Given the description of an element on the screen output the (x, y) to click on. 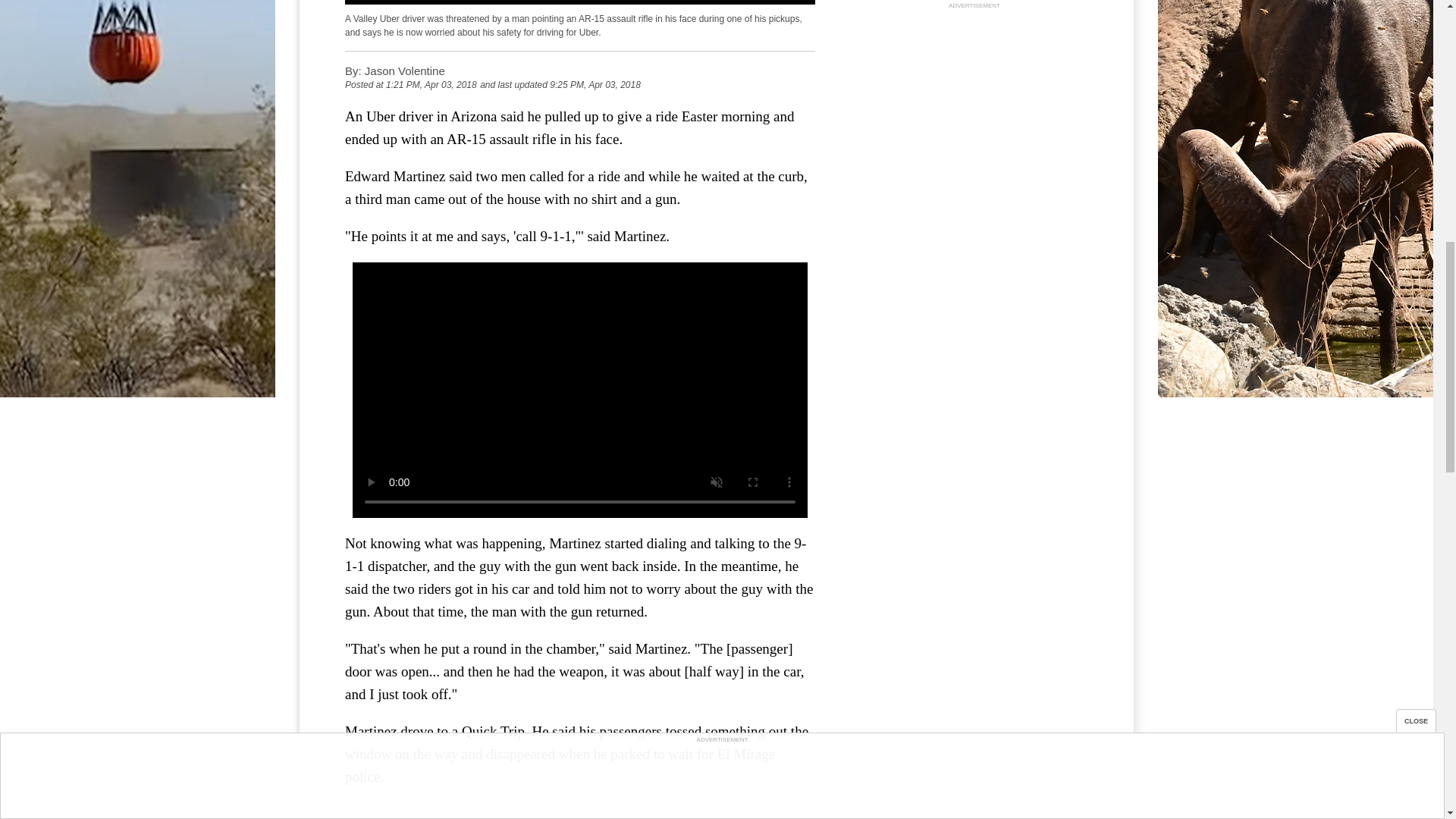
3rd party ad content (973, 106)
